Given the description of an element on the screen output the (x, y) to click on. 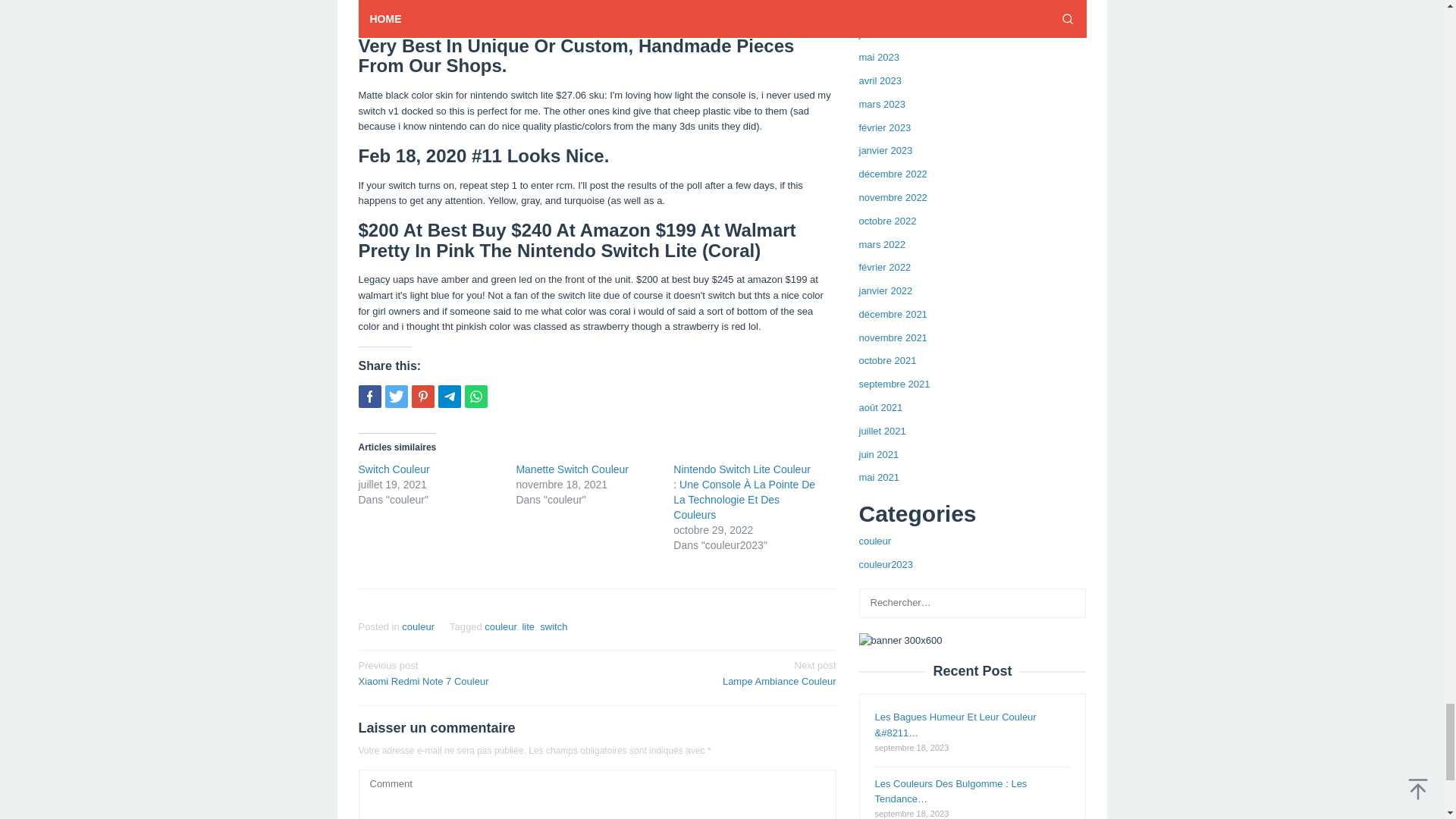
switch (553, 626)
Whatsapp (475, 395)
couleur (417, 626)
Manette Switch Couleur (571, 469)
Switch Couleur (393, 469)
Telegram Share (449, 395)
Pin this (421, 395)
Switch Couleur (721, 672)
Tweet this (472, 672)
couleur (393, 469)
Share this (396, 395)
lite (500, 626)
Manette Switch Couleur (369, 395)
